Given the description of an element on the screen output the (x, y) to click on. 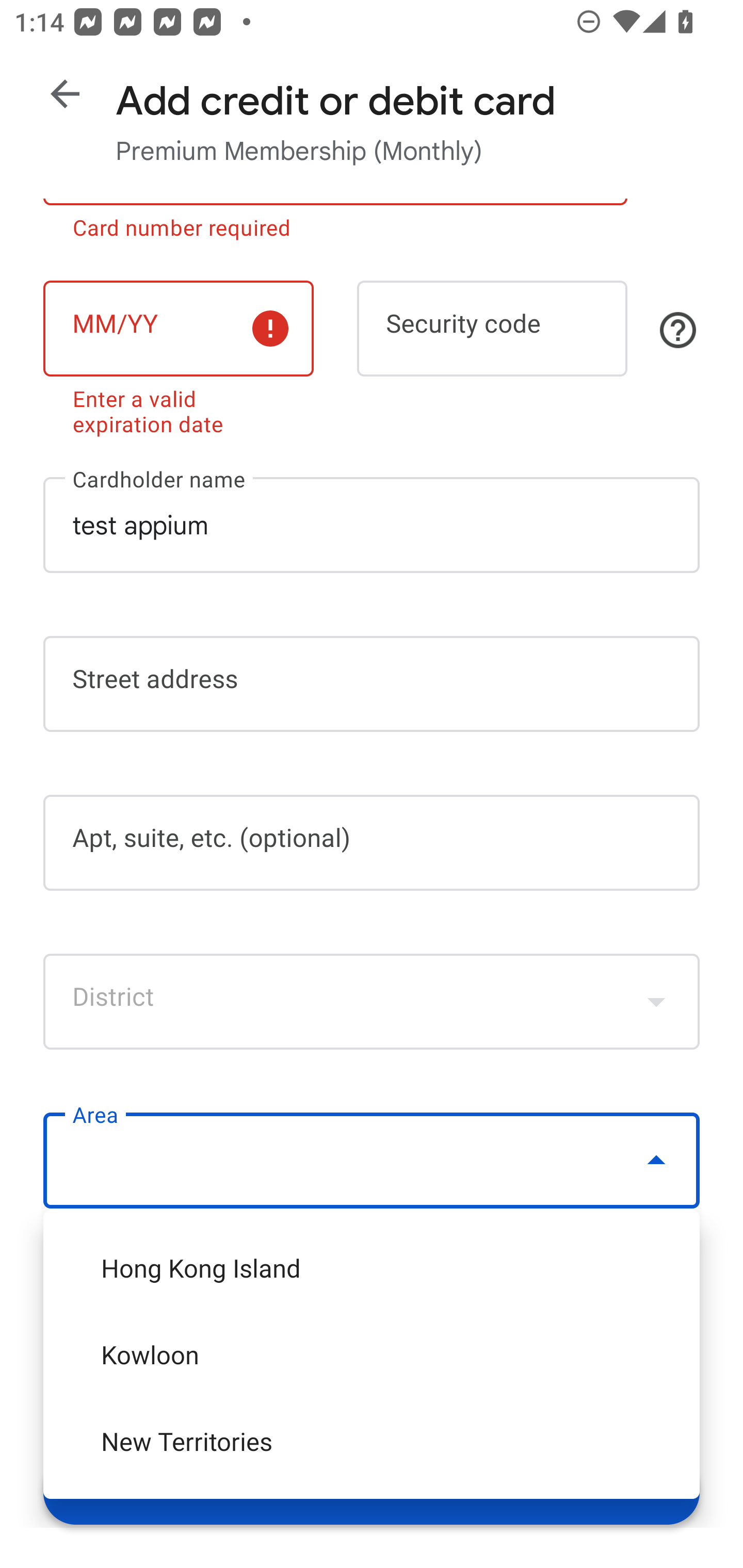
Back (64, 93)
Expiration date, 2 digit month, 2 digit year (178, 328)
Security code (492, 328)
Security code help (677, 329)
test appium (371, 524)
Street address (371, 684)
Apt, suite, etc. (optional) (371, 842)
District (371, 1000)
Show dropdown menu (655, 1001)
Area (371, 1160)
Show dropdown menu (655, 1160)
